Given the description of an element on the screen output the (x, y) to click on. 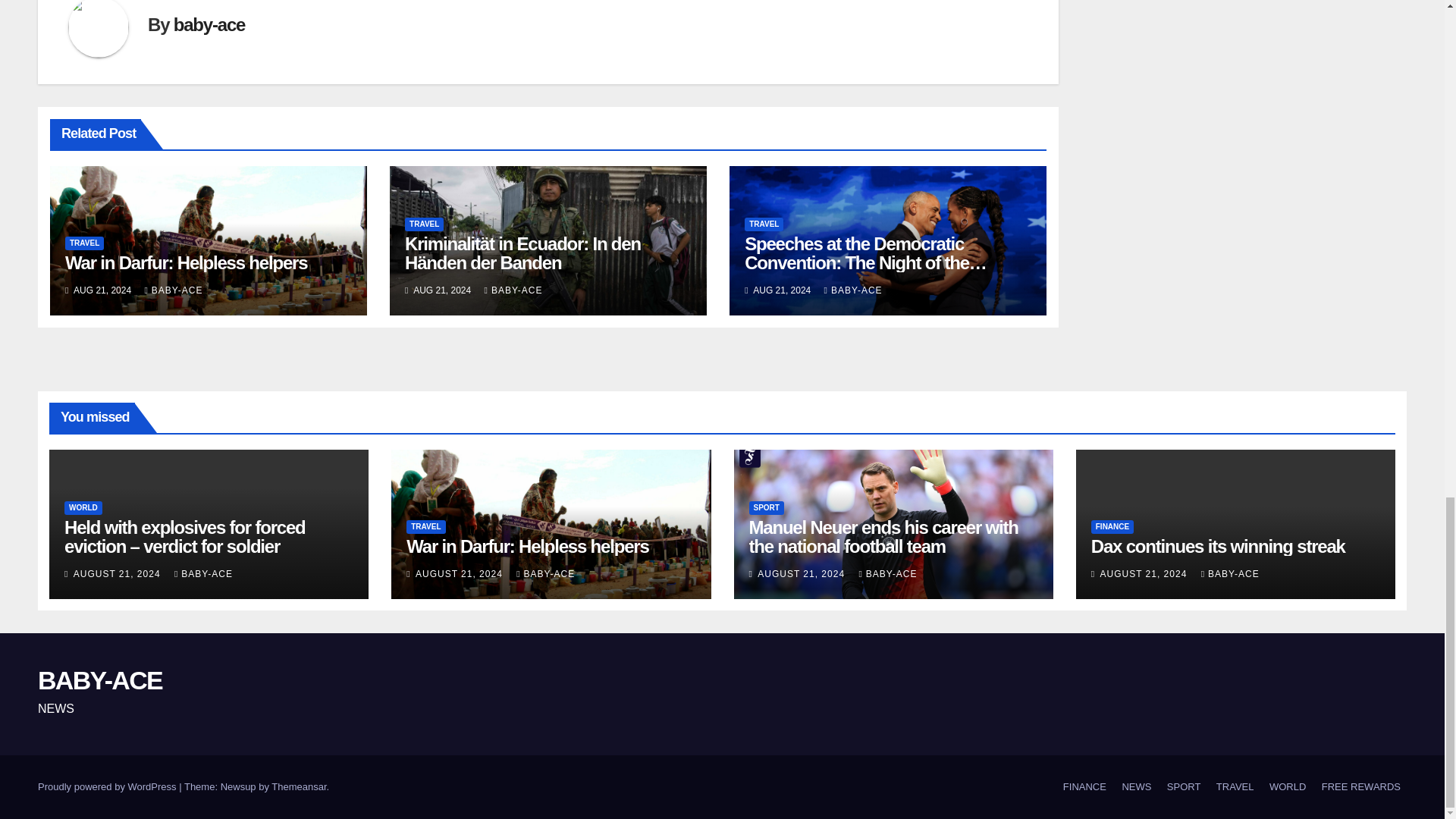
BABY-ACE (513, 290)
baby-ace (208, 24)
TRAVEL (763, 223)
TRAVEL (424, 223)
Permalink to: War in Darfur: Helpless helpers (186, 262)
Permalink to: War in Darfur: Helpless helpers (526, 546)
TRAVEL (84, 243)
War in Darfur: Helpless helpers (186, 262)
